Given the description of an element on the screen output the (x, y) to click on. 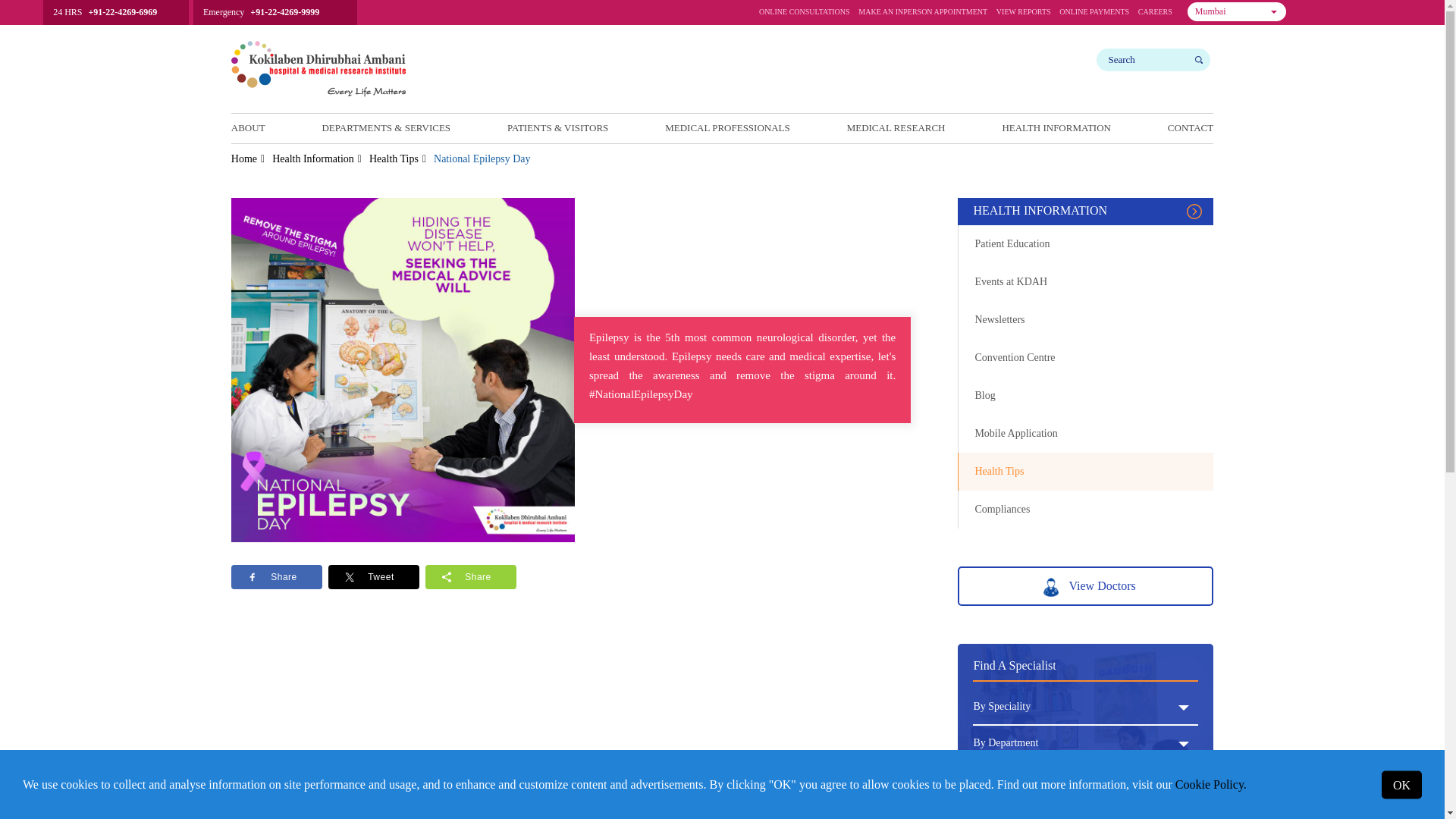
ABOUT (247, 127)
MAKE AN INPERSON APPOINTMENT (923, 14)
ONLINE CONSULTATIONS (1236, 11)
Mumbai (804, 14)
VIEW REPORTS (1236, 11)
CAREERS (1023, 14)
ONLINE PAYMENTS (1155, 14)
